Given the description of an element on the screen output the (x, y) to click on. 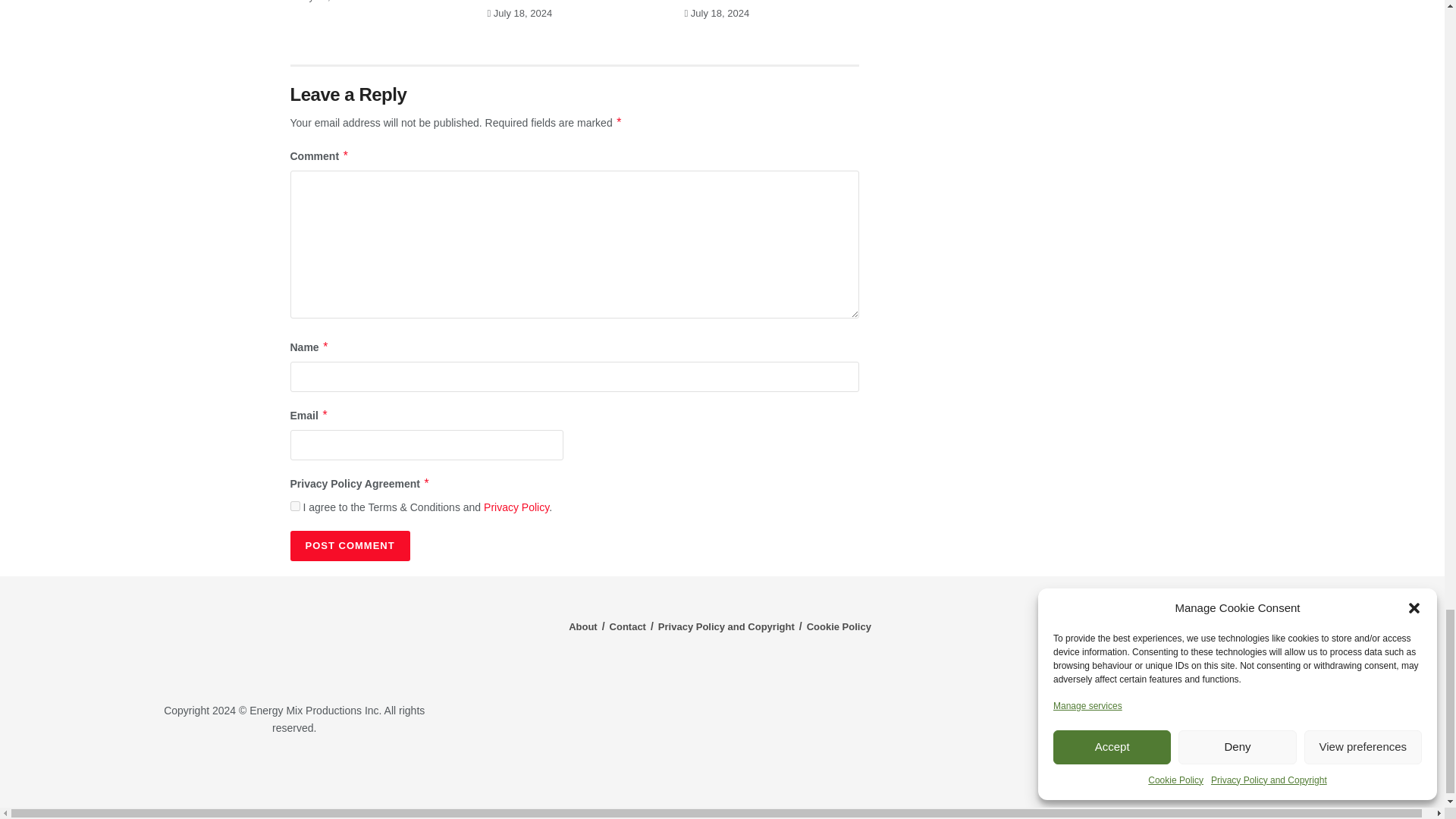
tem-logo-2024 (294, 640)
Climate-and-Capital (1221, 772)
on (294, 506)
Post Comment (349, 545)
